Given the description of an element on the screen output the (x, y) to click on. 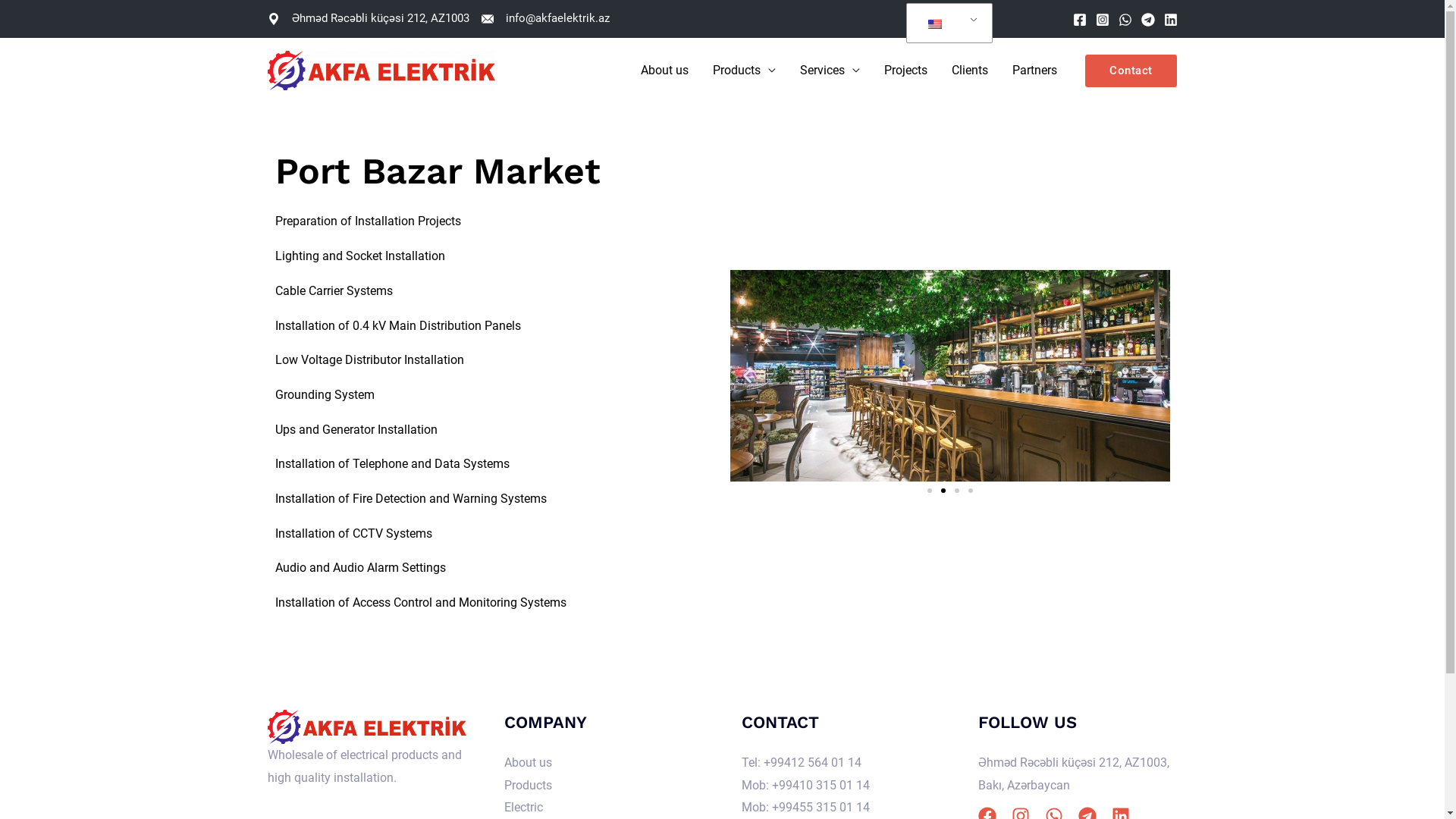
Products Element type: text (528, 785)
Mob: +99455 315 01 14 Element type: text (805, 807)
Contact Element type: text (1130, 70)
About us Element type: text (664, 70)
Clients Element type: text (969, 70)
Electric Element type: text (523, 807)
English Element type: hover (945, 23)
Partners Element type: text (1034, 70)
Mob: +99410 315 01 14 Element type: text (805, 785)
Tel: +99412 564 01 14 Element type: text (801, 762)
Products Element type: text (743, 70)
English Element type: hover (934, 23)
About us Element type: text (528, 762)
Projects Element type: text (905, 70)
Services Element type: text (829, 70)
